Given the description of an element on the screen output the (x, y) to click on. 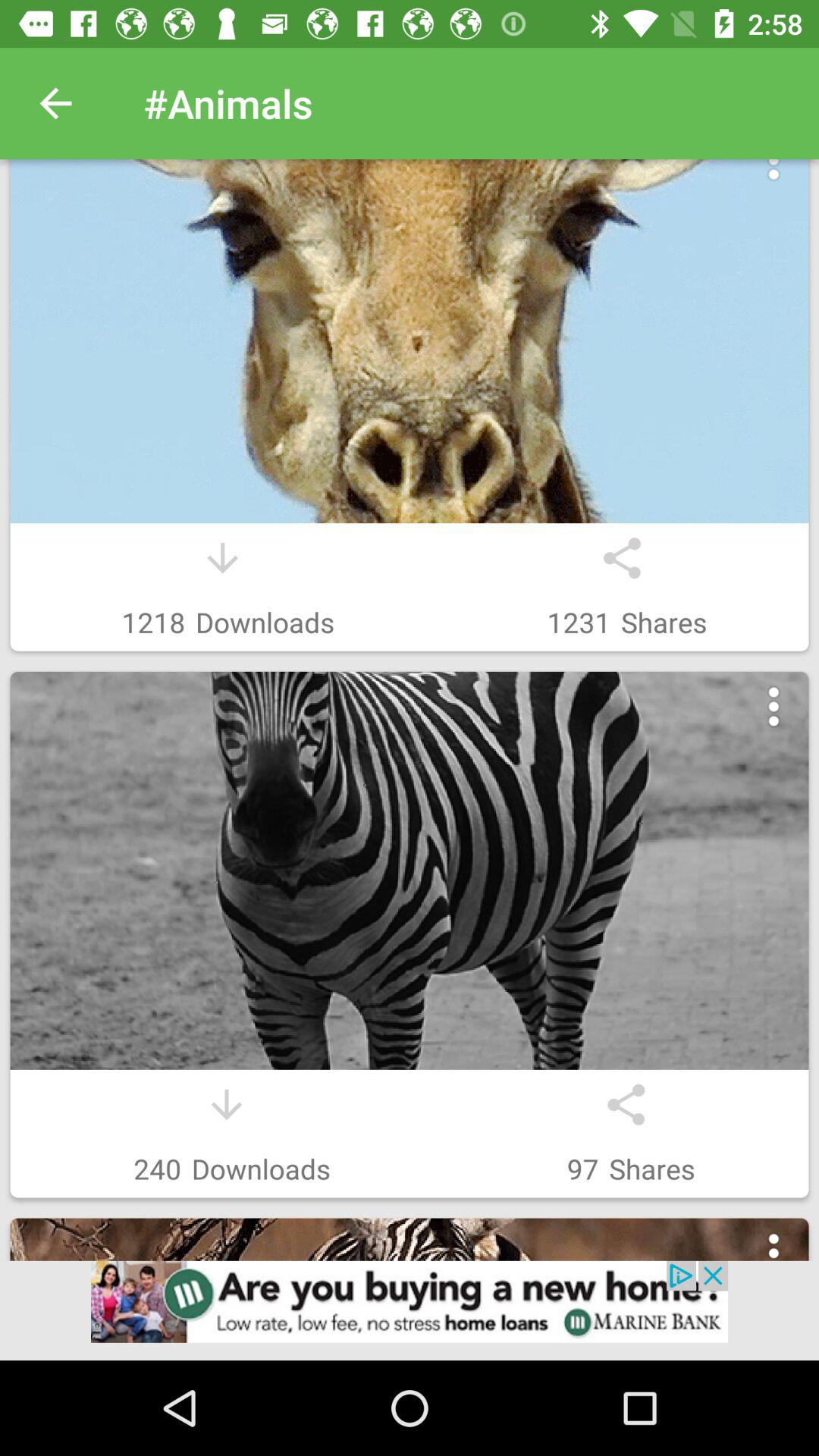
open menu (773, 177)
